Given the description of an element on the screen output the (x, y) to click on. 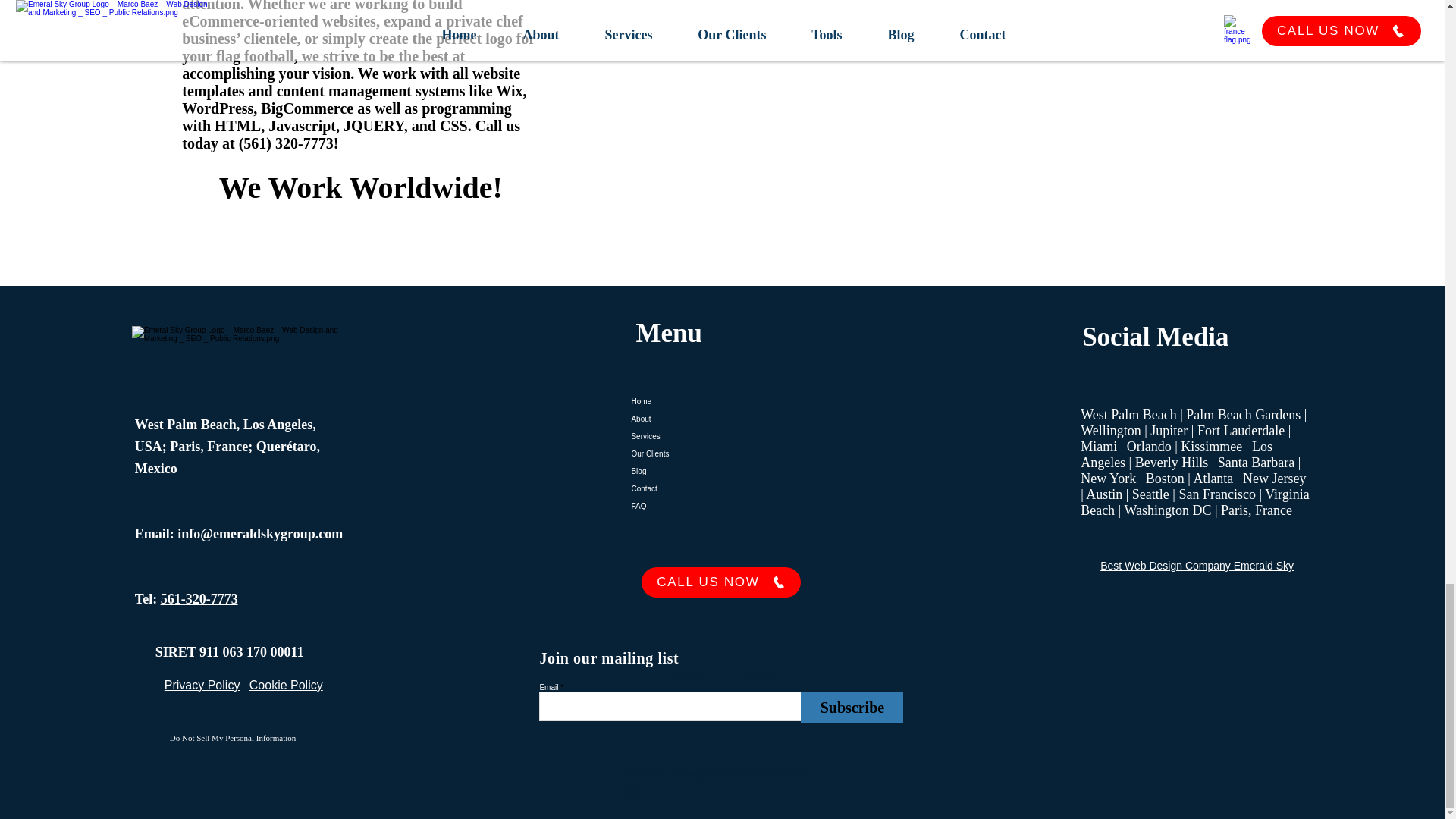
Menu (667, 333)
Contact (721, 488)
Our Clients (721, 453)
Do Not Sell My Personal Information (233, 737)
FAQ (721, 506)
Home (684, 674)
About (721, 418)
Home (721, 401)
CALL US NOW (721, 582)
Cookie Policy (285, 684)
